Given the description of an element on the screen output the (x, y) to click on. 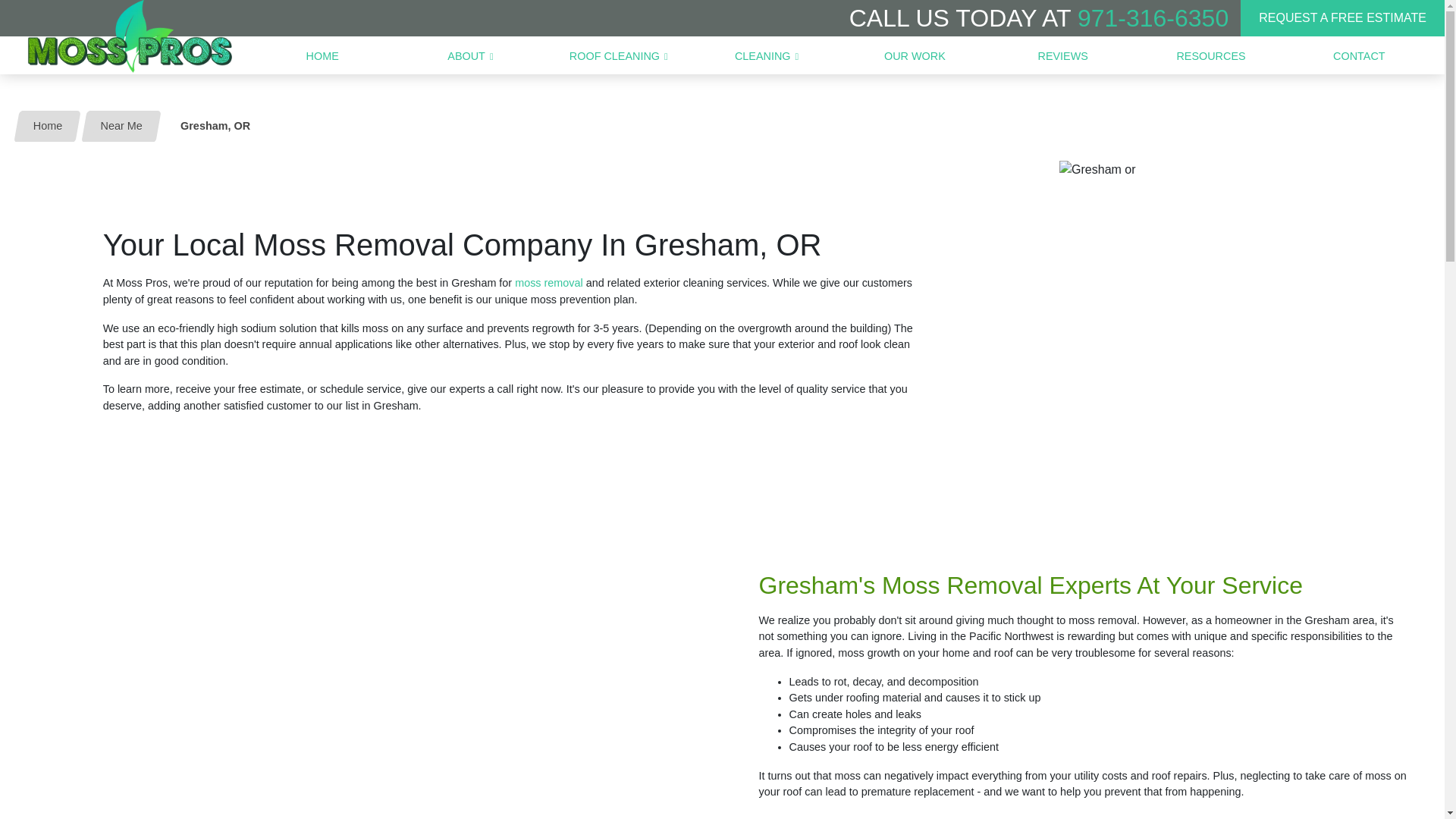
HOME (321, 56)
971-316-6350 (1152, 17)
ROOF CLEANING (618, 56)
CLEANING (765, 56)
ABOUT (469, 56)
